Given the description of an element on the screen output the (x, y) to click on. 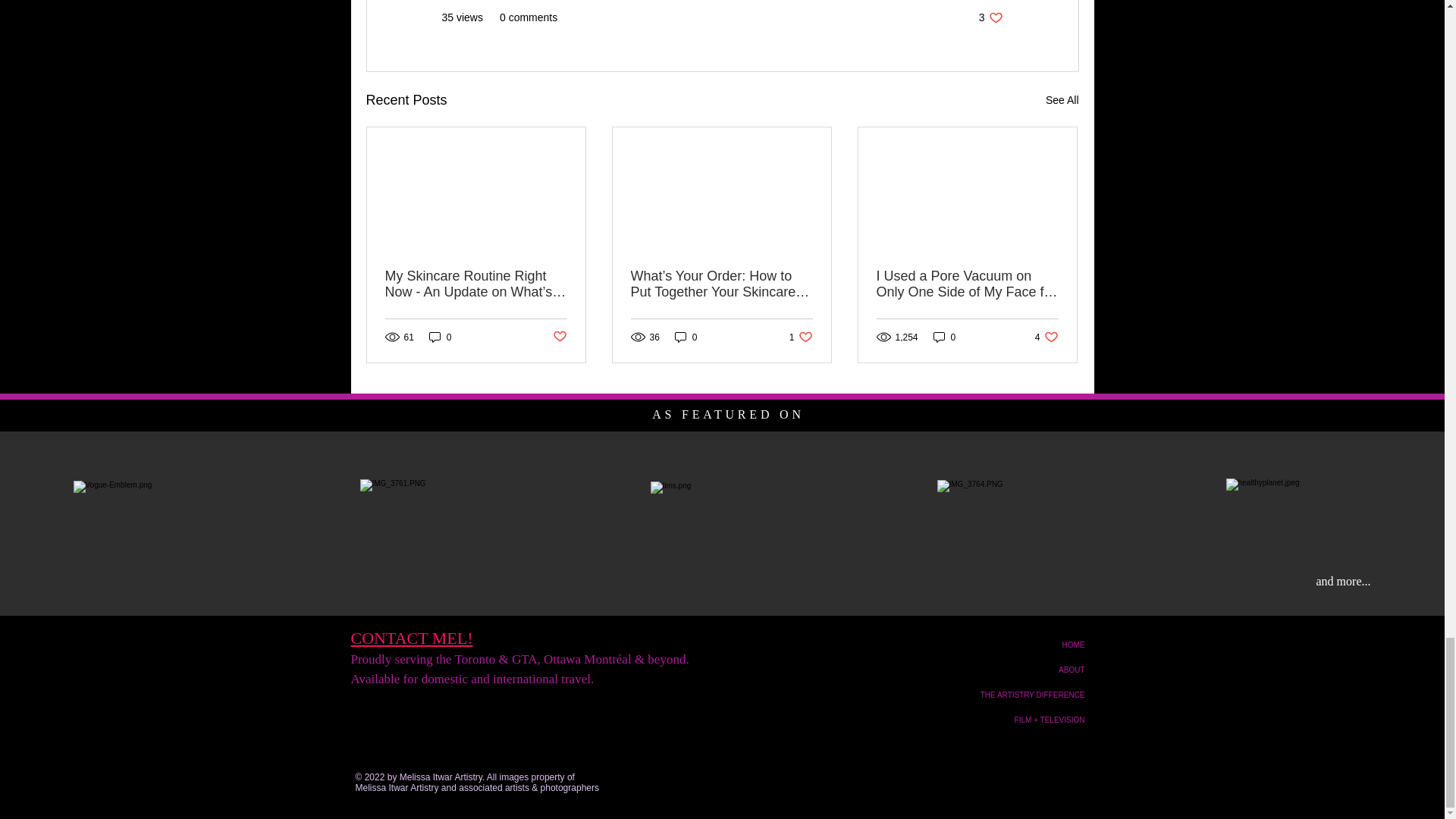
CONTACT MEL! (410, 637)
0 (685, 336)
0 (944, 336)
THE ARTISTRY DIFFERENCE (1027, 694)
0 (440, 336)
See All (1061, 100)
ABOUT (1046, 336)
Post not marked as liked (990, 17)
HOME (1027, 669)
